Given the description of an element on the screen output the (x, y) to click on. 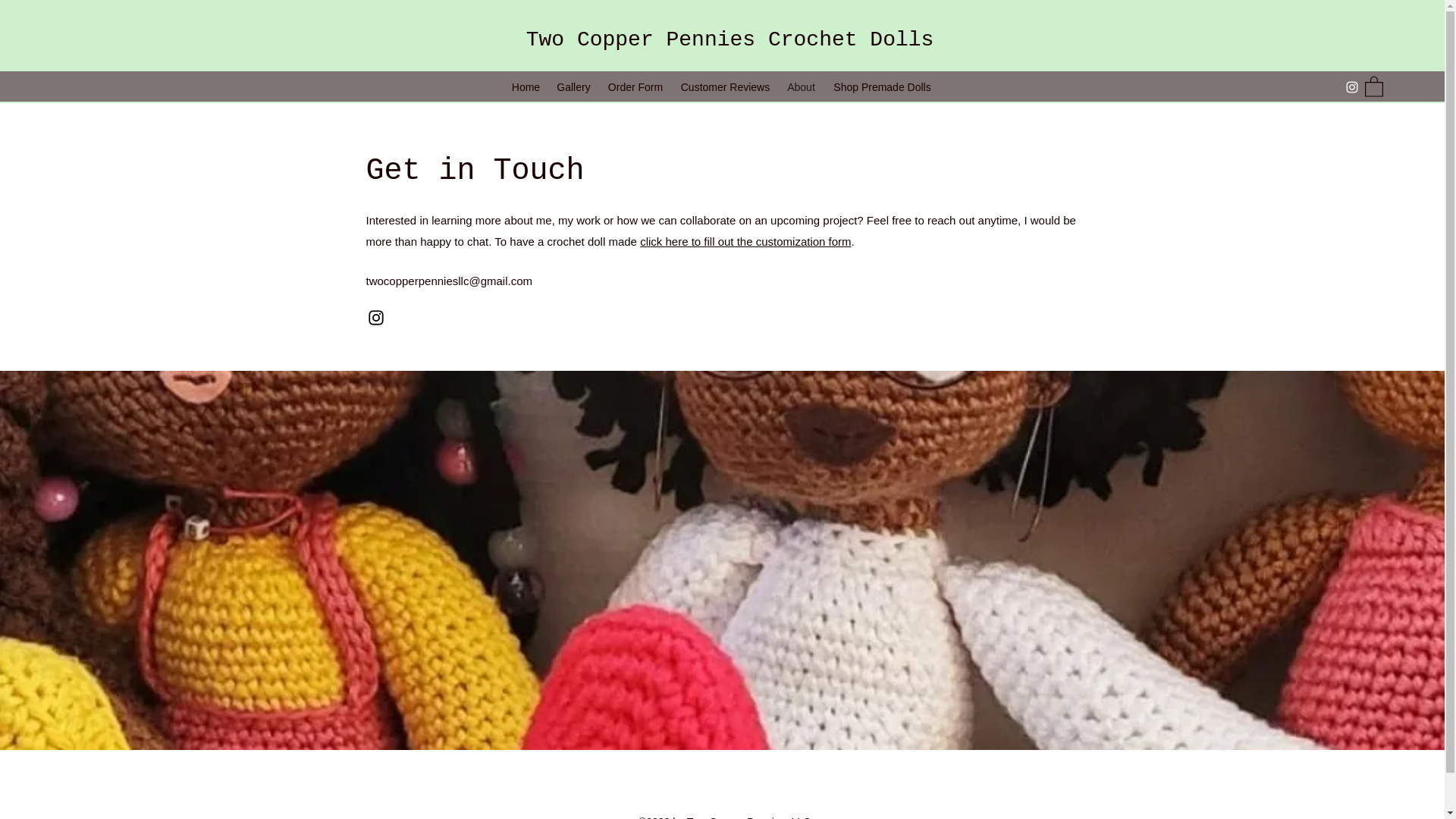
About (801, 87)
Shop Premade Dolls (882, 87)
click here to fill out the customization form (745, 241)
Order Form (634, 87)
Gallery (573, 87)
Customer Reviews (724, 87)
Two Copper Pennies Crochet Dolls (729, 39)
Home (525, 87)
